Given the description of an element on the screen output the (x, y) to click on. 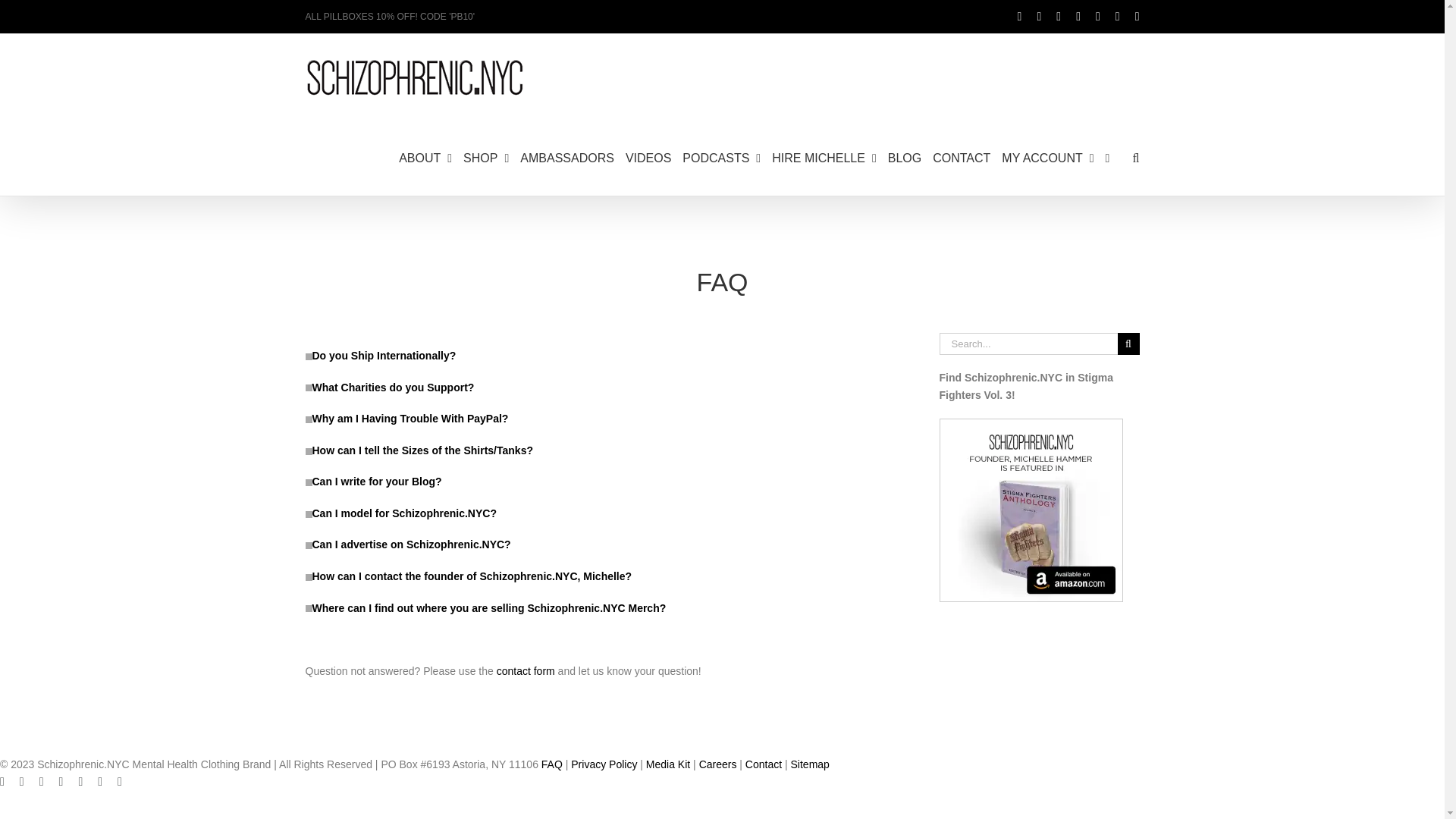
Ambassador Program (566, 156)
